Given the description of an element on the screen output the (x, y) to click on. 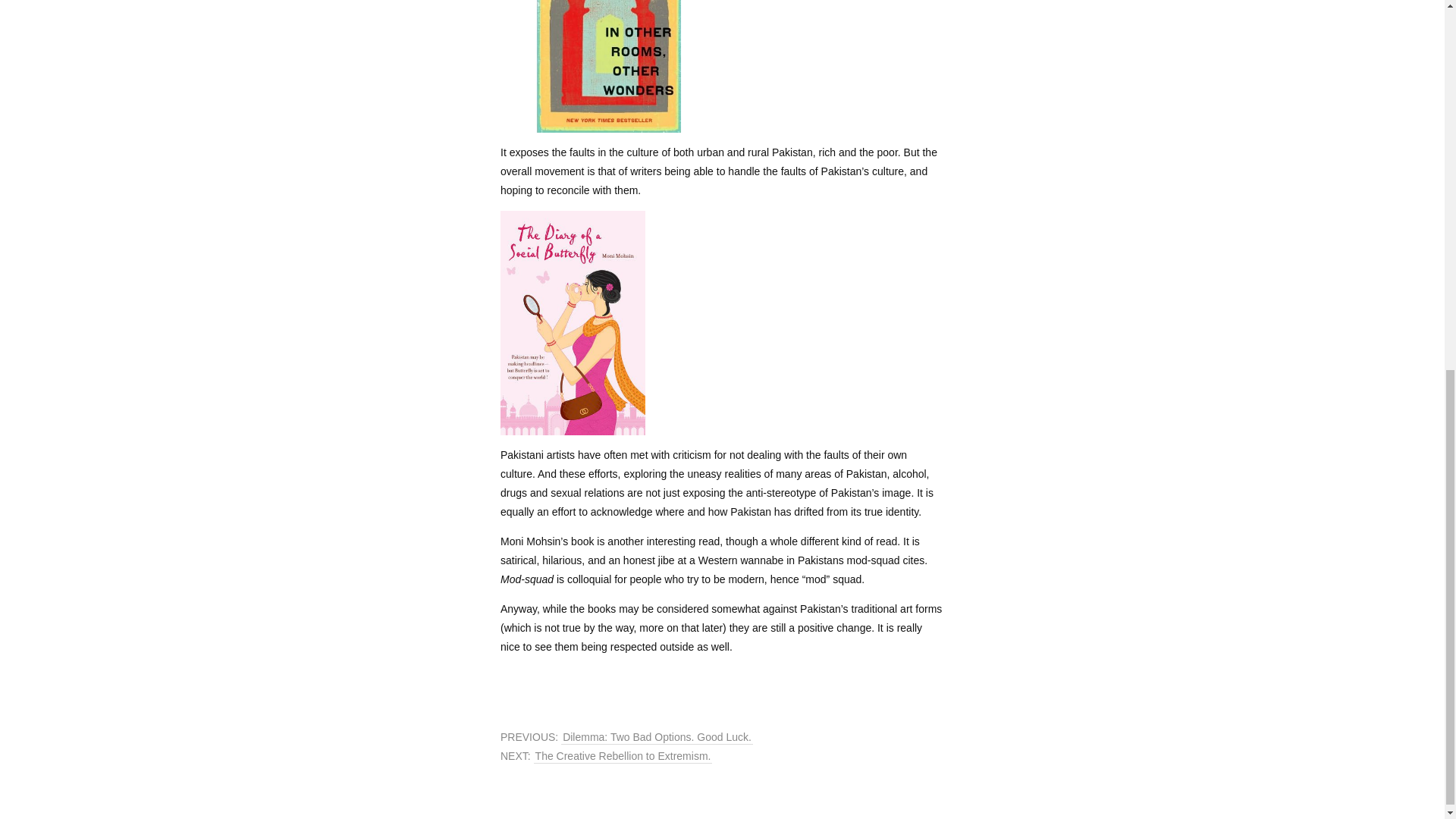
The Creative Rebellion to Extremism. (622, 756)
Dilemma: Two Bad Options. Good Luck. (657, 737)
